Given the description of an element on the screen output the (x, y) to click on. 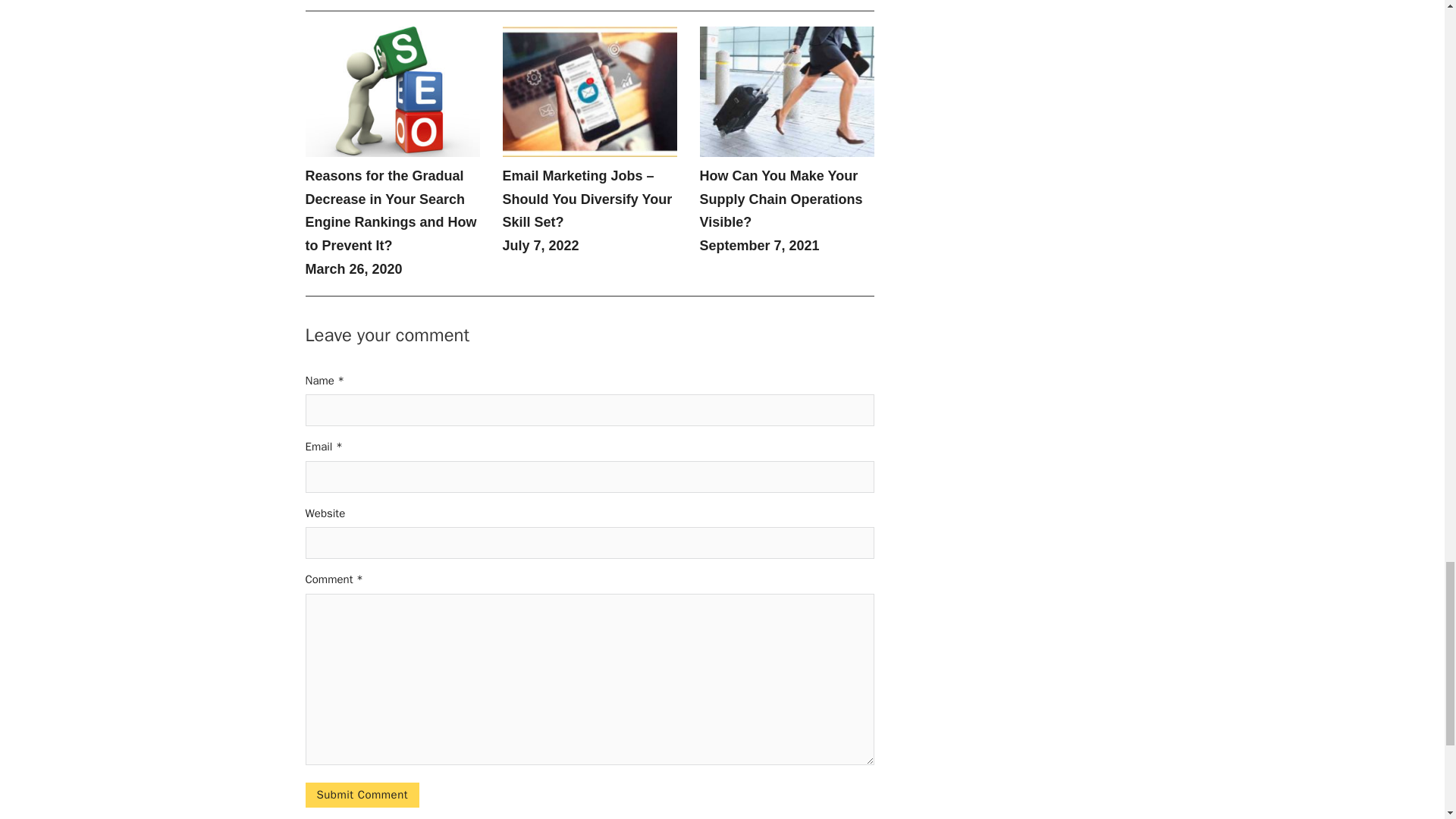
Submit Comment (361, 794)
How Can You Make Your Supply Chain Operations Visible? (779, 199)
Submit Comment (361, 794)
